Given the description of an element on the screen output the (x, y) to click on. 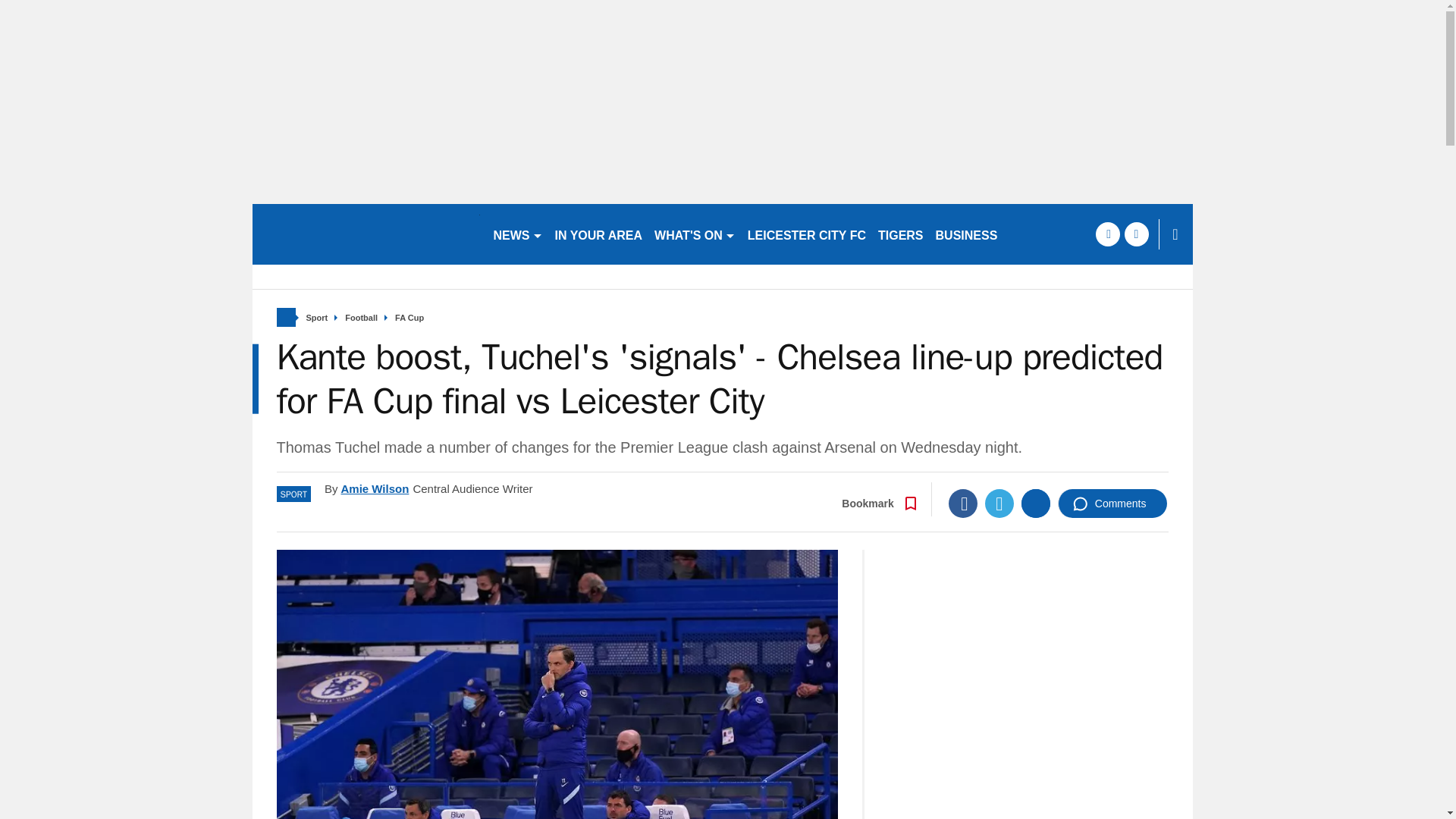
Facebook (962, 502)
twitter (1136, 233)
BUSINESS (967, 233)
NEWS (517, 233)
LEICESTER CITY FC (806, 233)
Comments (1112, 502)
IN YOUR AREA (598, 233)
Twitter (999, 502)
facebook (1106, 233)
leicestermercury (365, 233)
WHAT'S ON (694, 233)
TIGERS (901, 233)
